Given the description of an element on the screen output the (x, y) to click on. 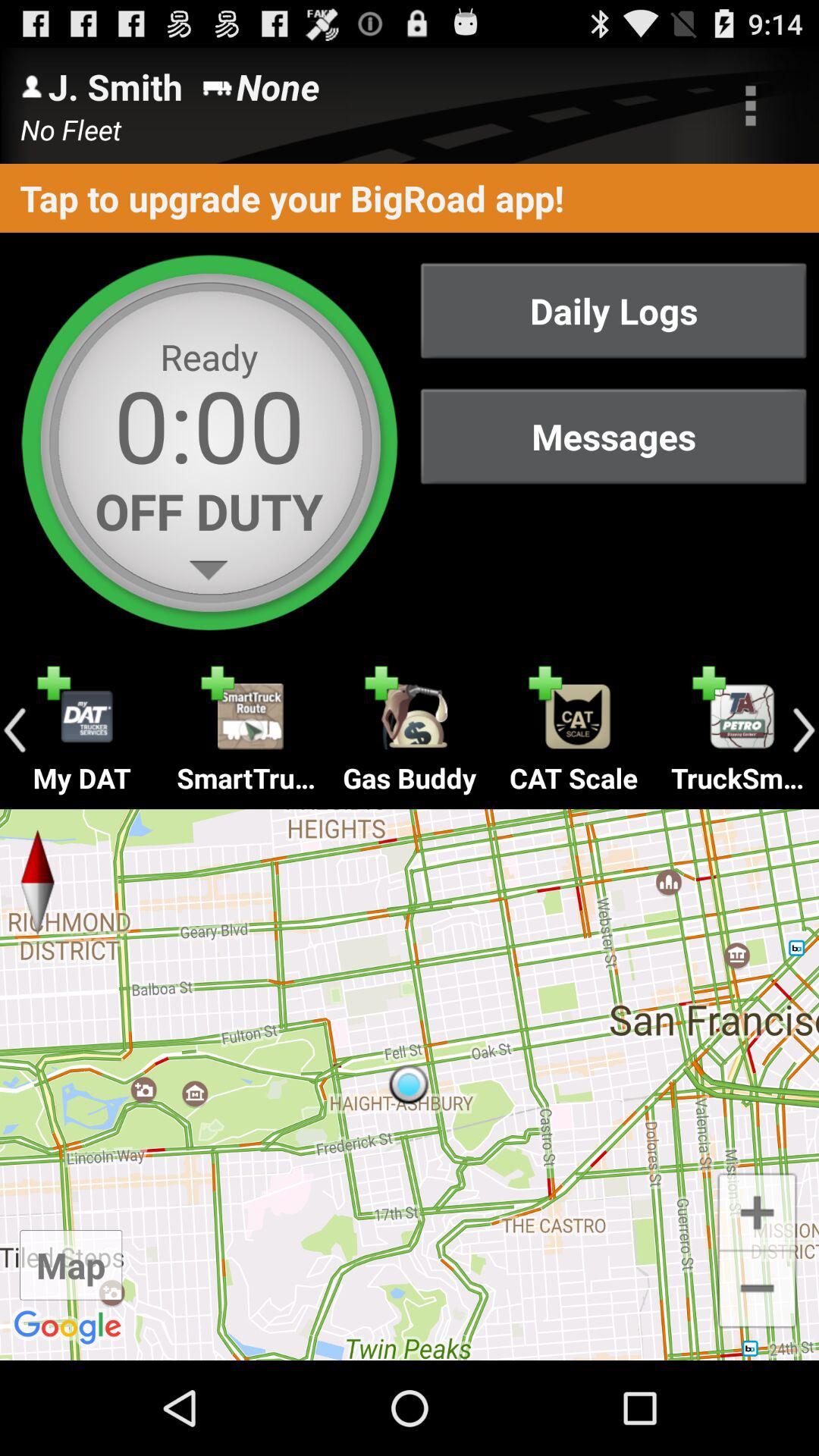
turn off item below the my dat item (409, 1084)
